Given the description of an element on the screen output the (x, y) to click on. 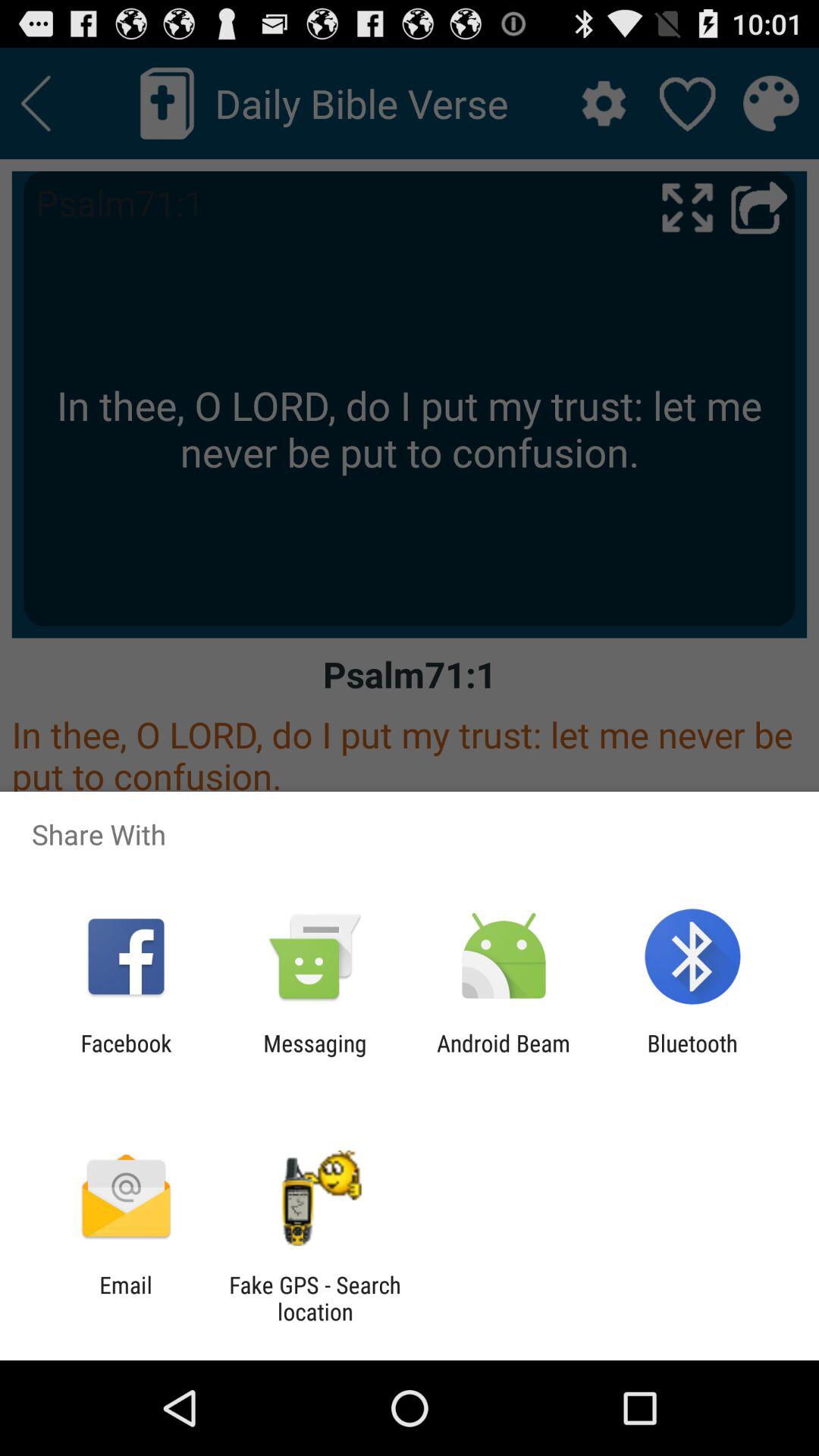
turn on the icon at the bottom right corner (692, 1056)
